Given the description of an element on the screen output the (x, y) to click on. 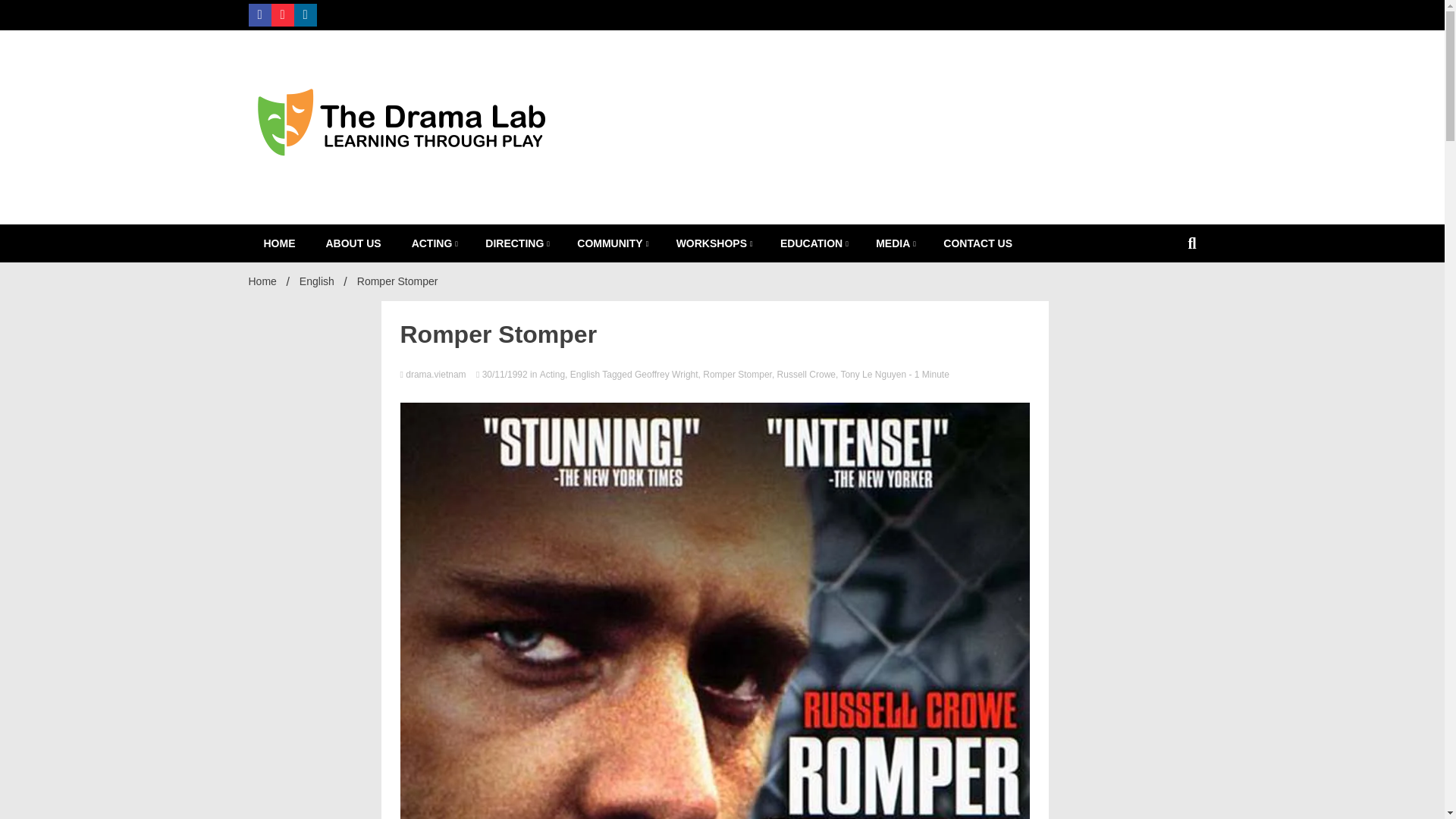
Estimated Reading Time of Article (928, 374)
ACTING (433, 243)
COMMUNITY (611, 243)
ABOUT US (353, 243)
HOME (279, 243)
WORKSHOPS (713, 243)
DIRECTING (516, 243)
The Drama Lab (640, 259)
